Given the description of an element on the screen output the (x, y) to click on. 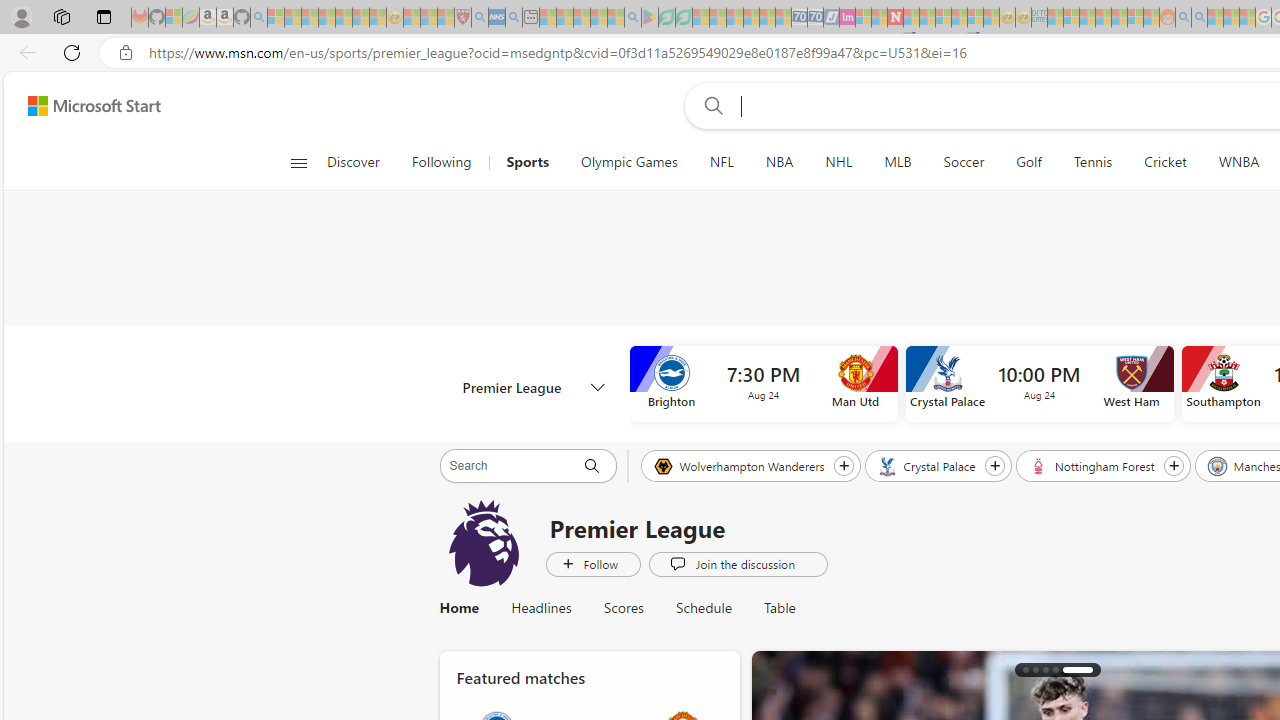
Golf (1028, 162)
Soccer (964, 162)
MLB (897, 162)
Soccer (963, 162)
Follow Crystal Palace (994, 465)
Liverpool sell young midfielder Bobby Clark to Salzburg (1089, 669)
Olympic Games (629, 162)
